Given the description of an element on the screen output the (x, y) to click on. 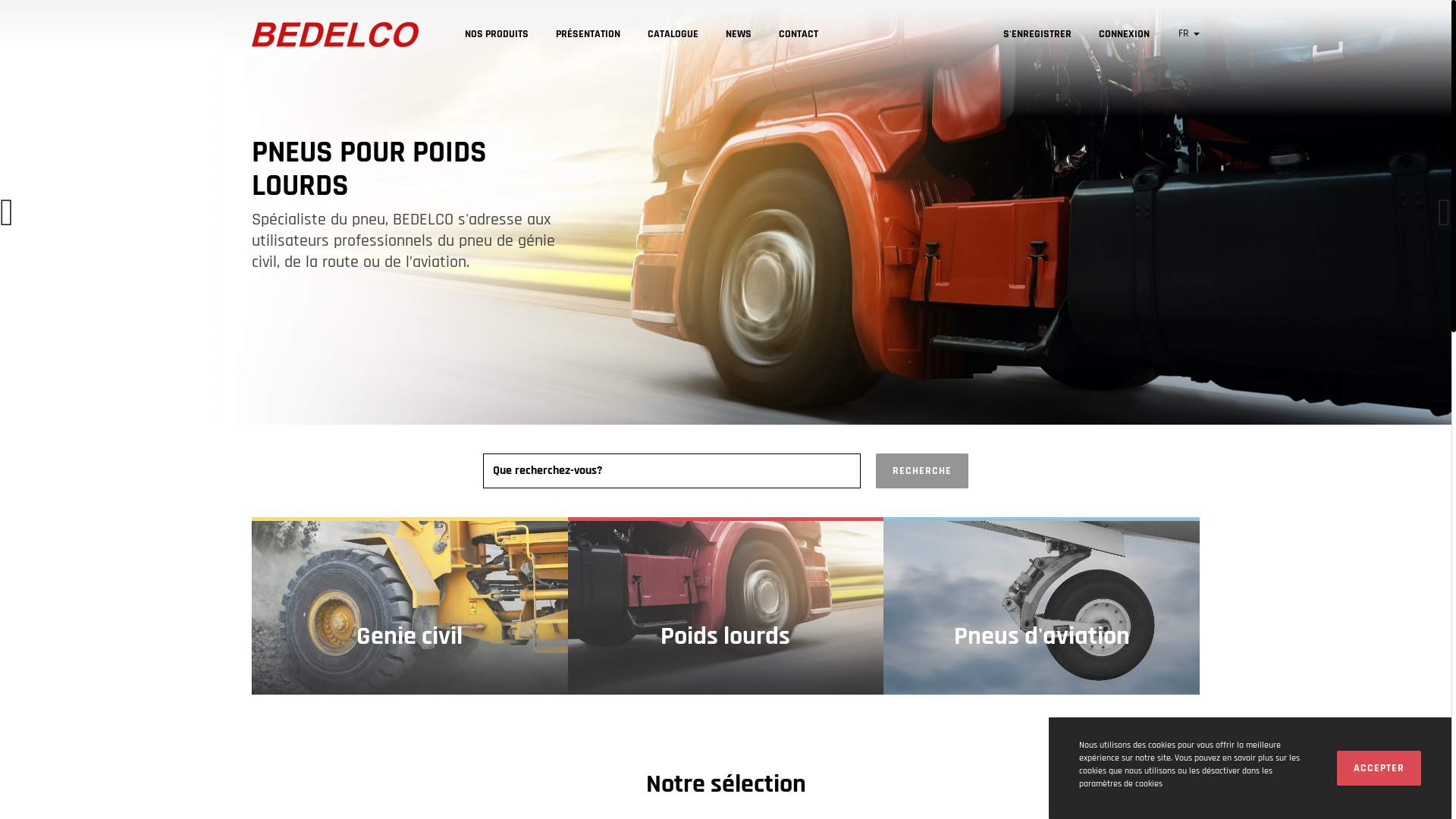
Poids lourds Element type: text (725, 605)
CONNEXION Element type: text (1124, 33)
Previous Element type: text (6, 212)
NEWS Element type: text (738, 34)
CATALOGUE Element type: text (672, 34)
FR Element type: text (1188, 33)
Next Element type: text (1444, 212)
NOS PRODUITS Element type: text (496, 34)
Genie civil Element type: text (409, 605)
RECHERCHE Element type: text (921, 470)
ACCEPTER Element type: text (1378, 767)
S'ENREGISTRER Element type: text (1037, 33)
Pneus d'aviation Element type: text (1041, 605)
CONTACT Element type: text (798, 34)
